Given the description of an element on the screen output the (x, y) to click on. 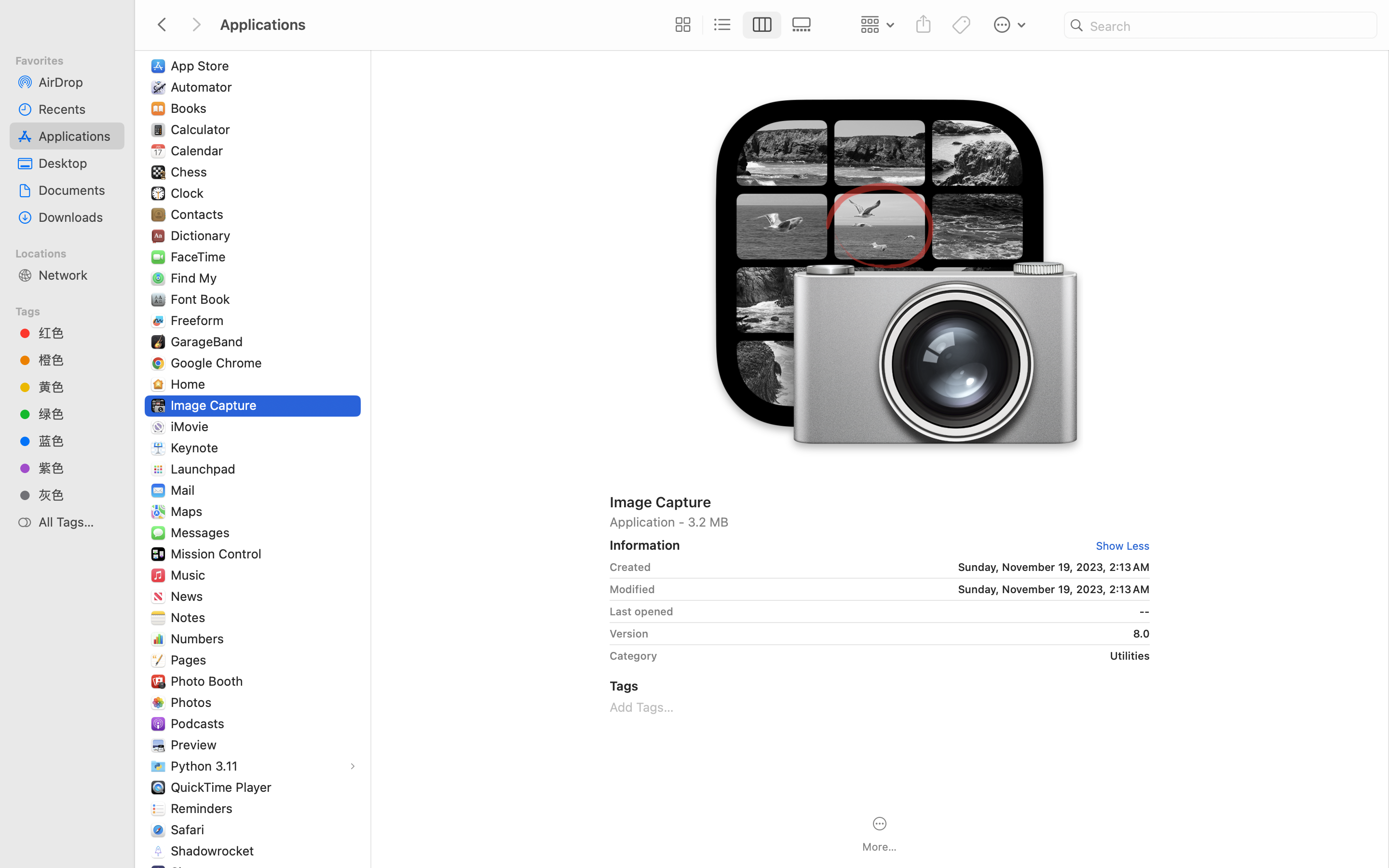
Numbers Element type: AXTextField (199, 638)
News Element type: AXTextField (188, 595)
Freeform Element type: AXTextField (198, 319)
FaceTime Element type: AXTextField (200, 256)
Application - 3.2 MB Element type: AXStaticText (879, 521)
